Given the description of an element on the screen output the (x, y) to click on. 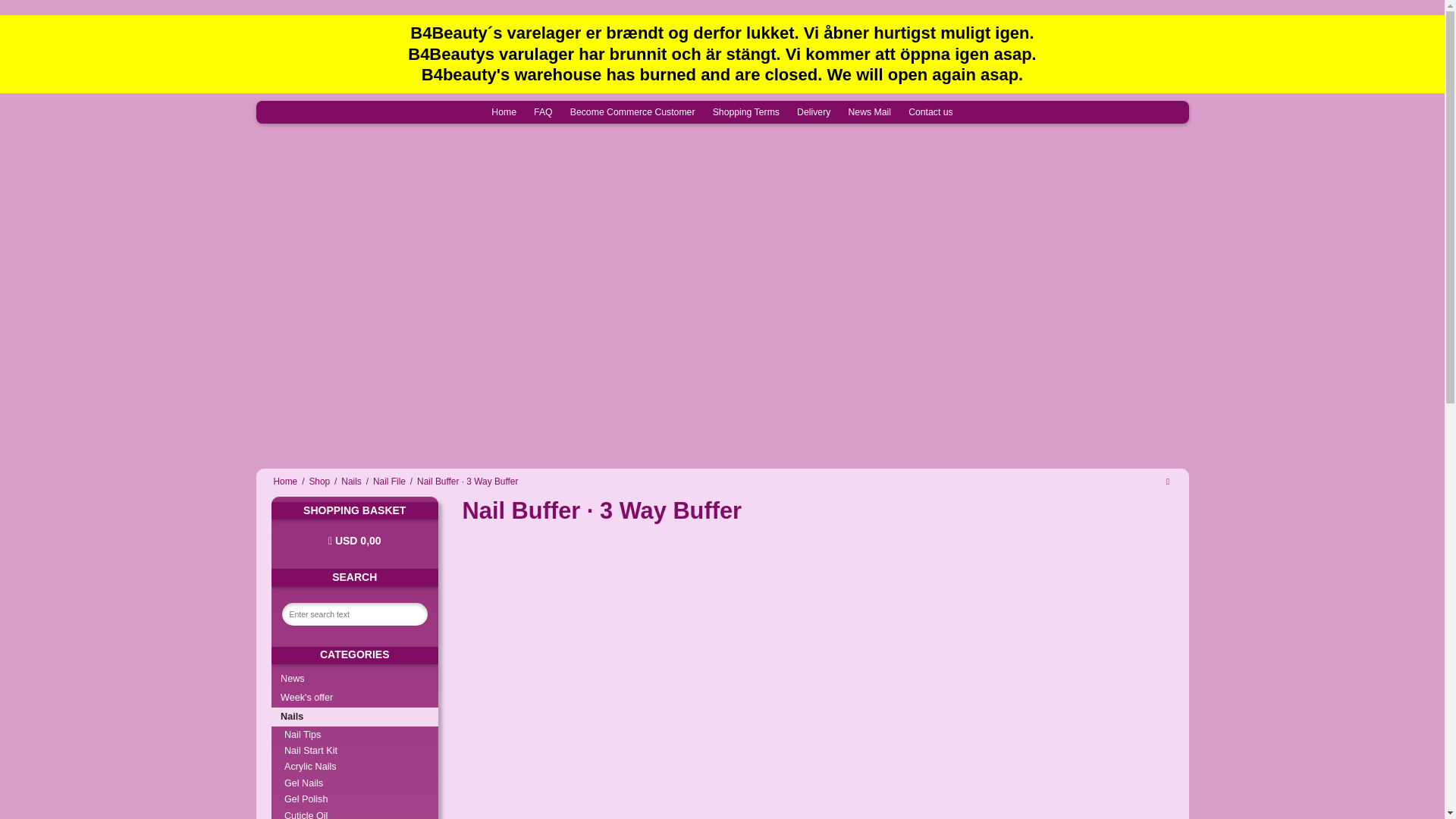
Delivery (813, 111)
Shopping Terms (745, 111)
News Mail (869, 111)
FAQ (543, 111)
Home (503, 111)
Become Commerce Customer (633, 111)
